Given the description of an element on the screen output the (x, y) to click on. 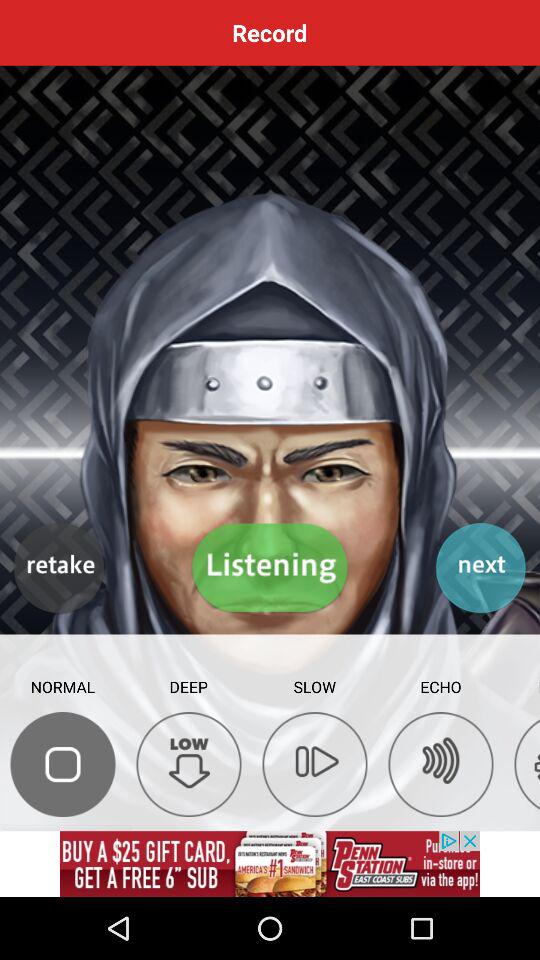
toggle download option (188, 764)
